Given the description of an element on the screen output the (x, y) to click on. 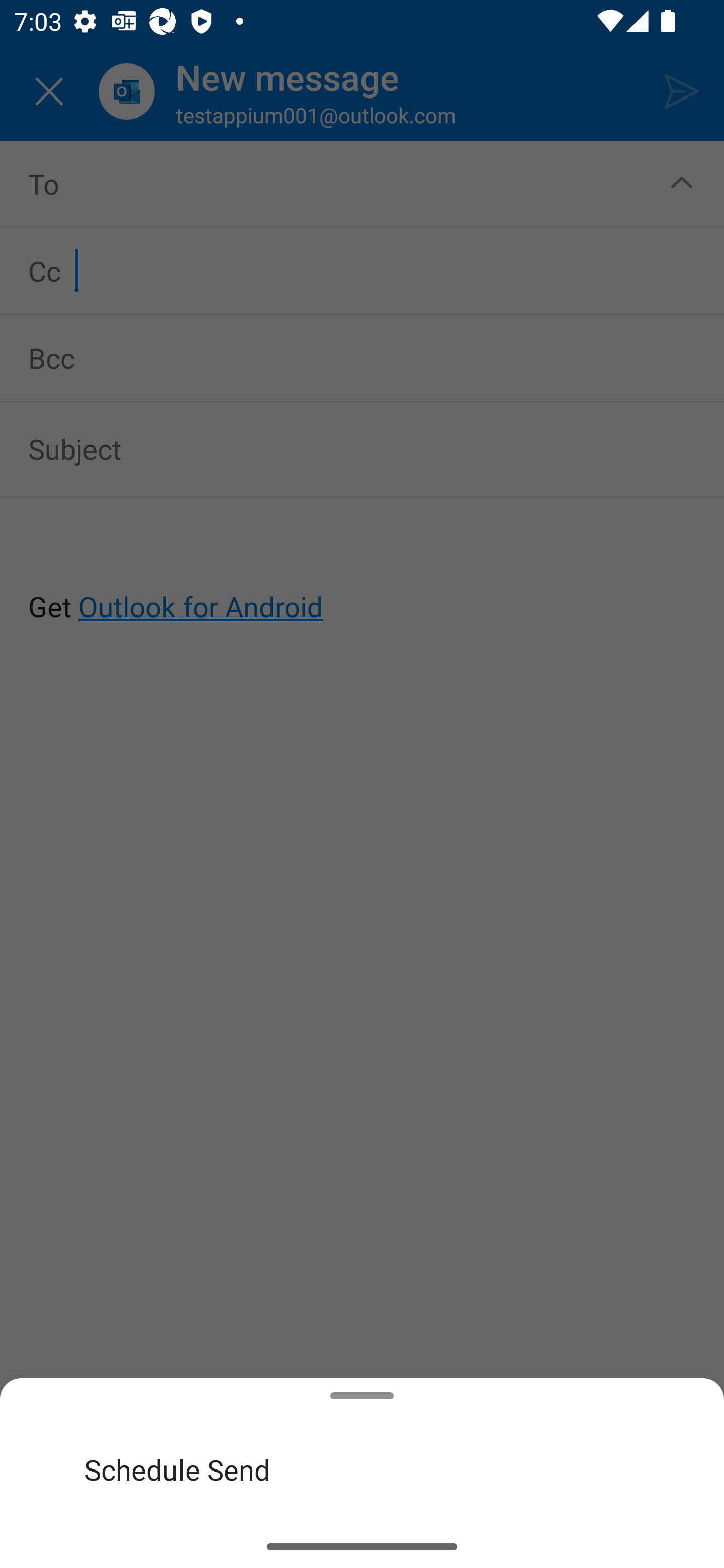
Schedule Send (362, 1468)
